Given the description of an element on the screen output the (x, y) to click on. 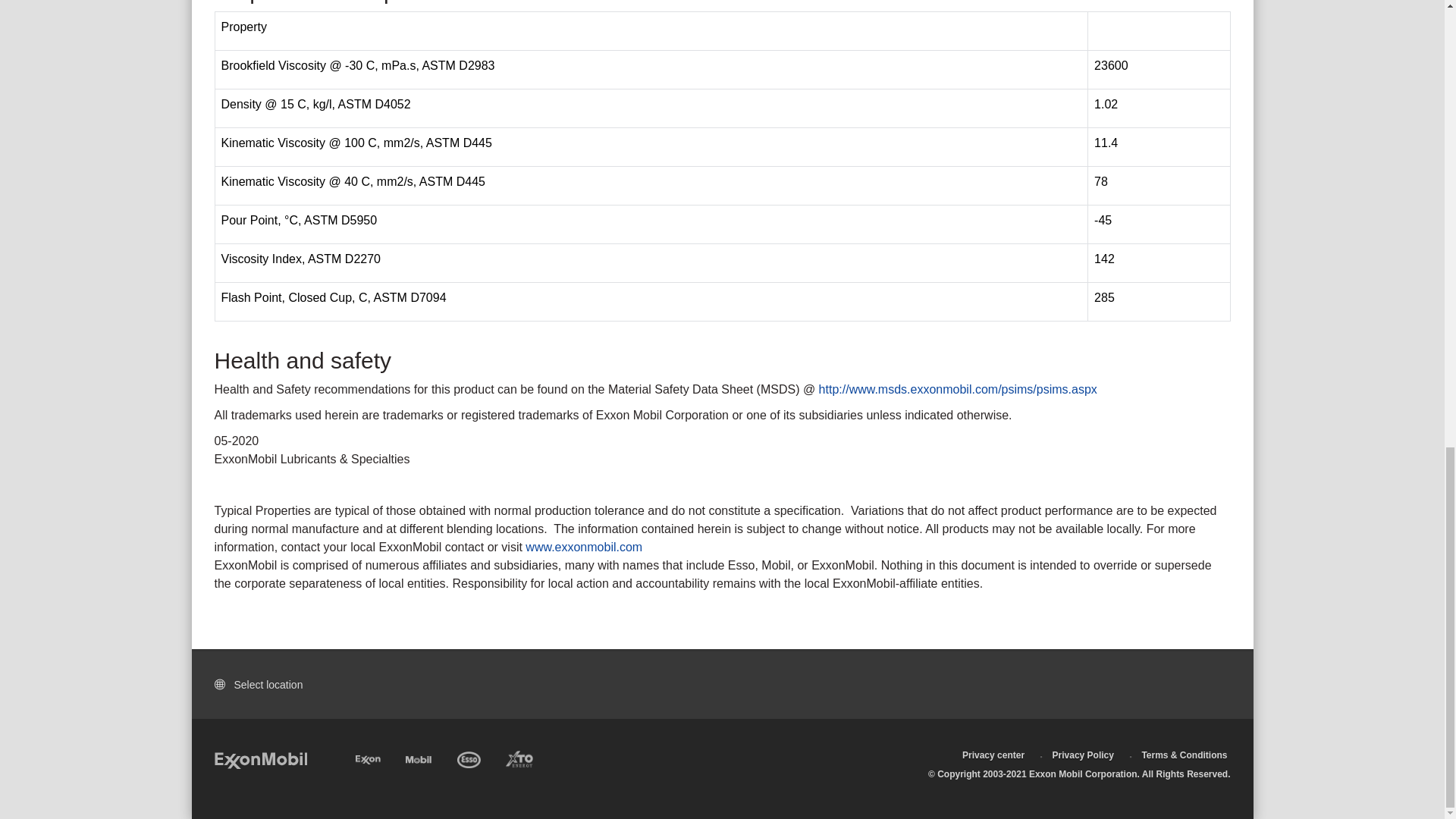
Select location (263, 684)
www.exxonmobil.com (583, 546)
Mobil (418, 757)
Privacy Policy (1082, 755)
Xto (518, 757)
Exxon (367, 757)
Esso (468, 757)
Privacy center (993, 755)
